Given the description of an element on the screen output the (x, y) to click on. 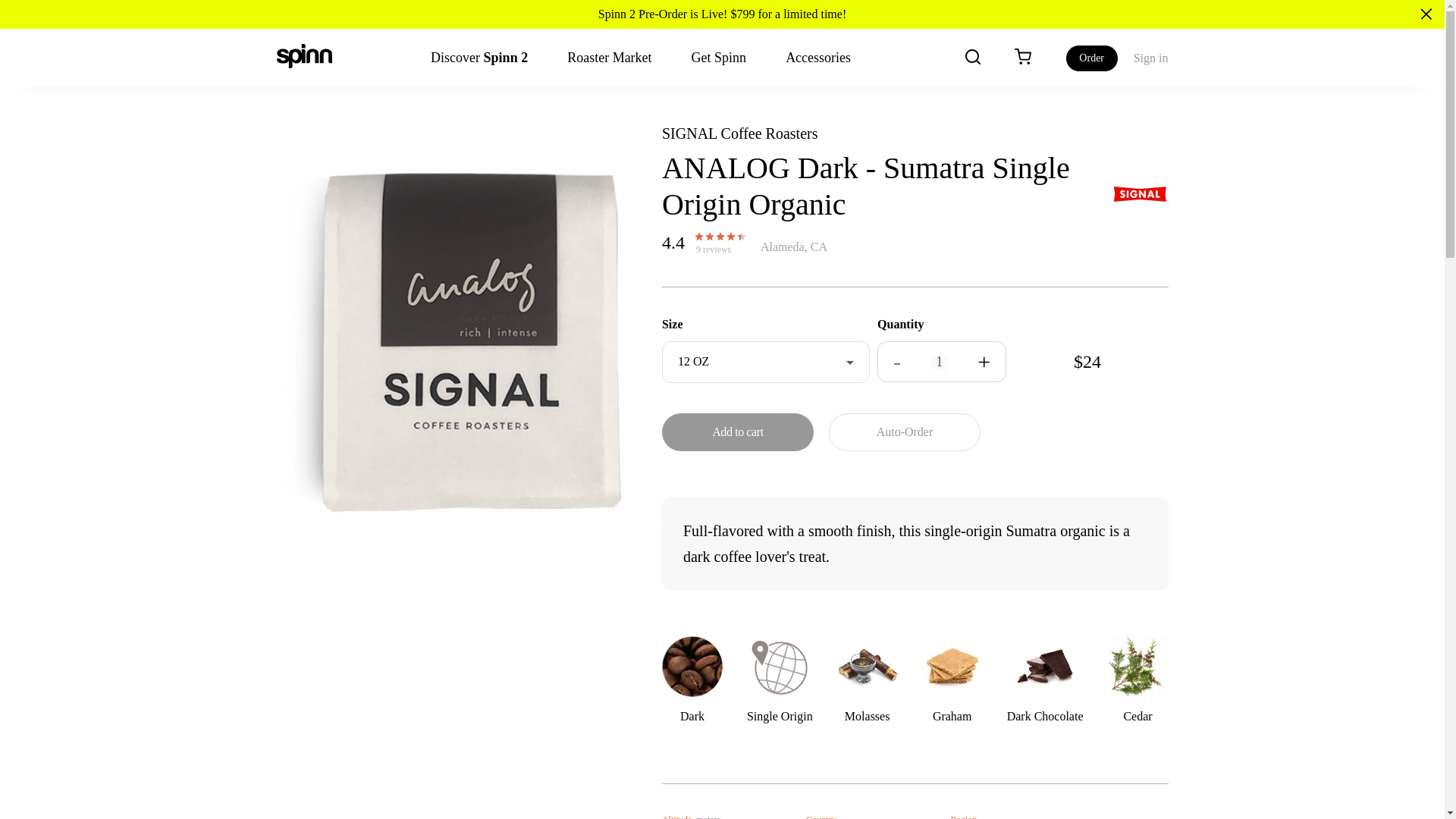
Get Spinn (718, 57)
Sign in (1151, 58)
Discover Spinn 2 (478, 57)
Accessories (818, 57)
Add to cart (737, 432)
SIGNAL Coffee Roasters (740, 133)
4.4 out of 5 (717, 237)
Order (1091, 58)
1 (939, 361)
Auto-Order (903, 432)
